Given the description of an element on the screen output the (x, y) to click on. 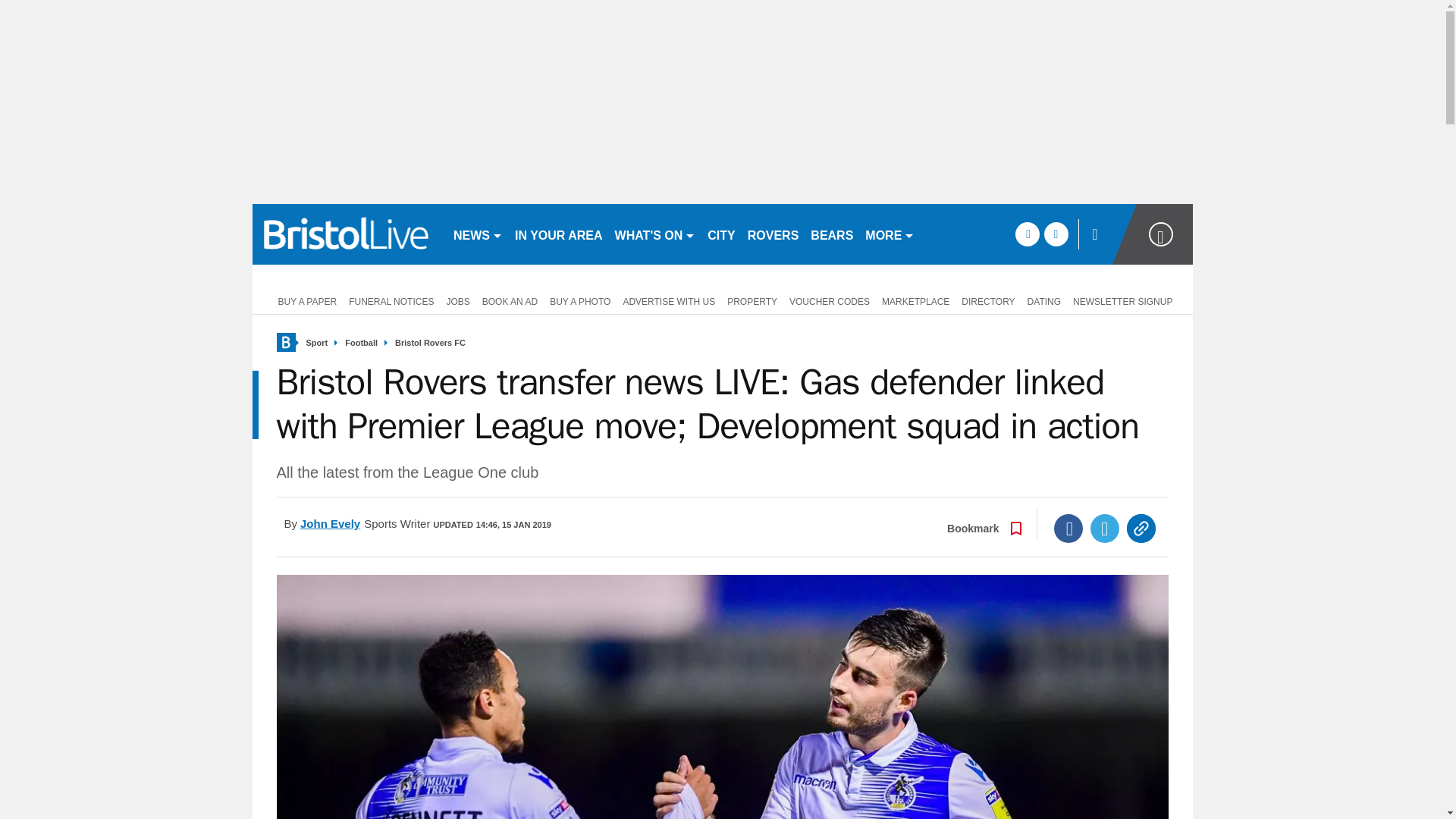
WHAT'S ON (654, 233)
IN YOUR AREA (558, 233)
Twitter (1104, 528)
Facebook (1068, 528)
ROVERS (773, 233)
bristolpost (345, 233)
BEARS (832, 233)
twitter (1055, 233)
MORE (889, 233)
facebook (1026, 233)
